Given the description of an element on the screen output the (x, y) to click on. 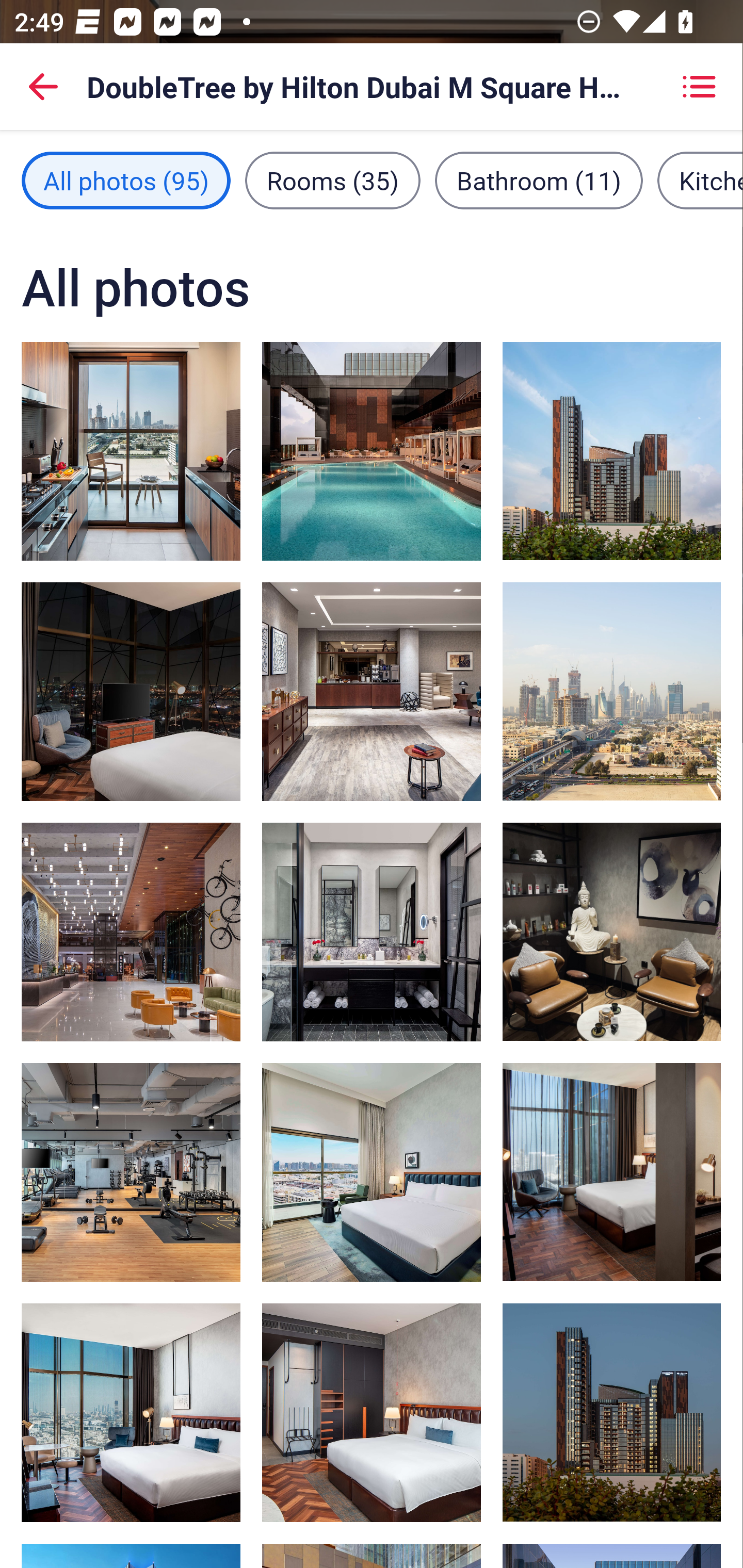
Back (43, 86)
Showing grid view (699, 86)
All photos filter, 95 images (125, 180)
Rooms filter, 35 images (332, 180)
Bathroom filter, 11 images (538, 180)
Private kitchen, image (130, 451)
Exterior, image (611, 450)
Restaurant, image (371, 691)
City view, image (611, 691)
Reception, image (130, 932)
Fitness facility, image (130, 1172)
Exterior, image (611, 1411)
